Given the description of an element on the screen output the (x, y) to click on. 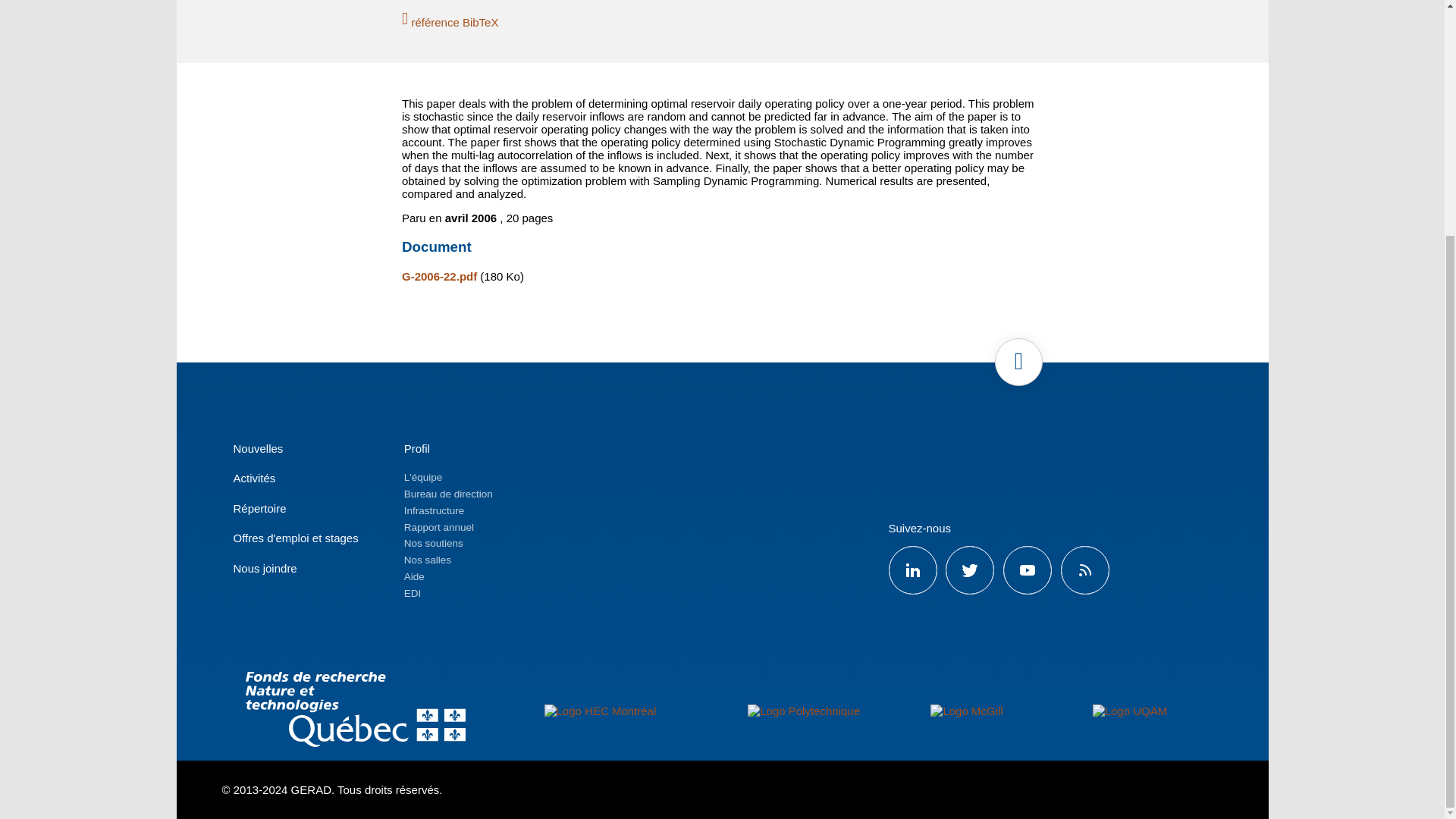
Nouvelles (257, 448)
G-2006-22.pdf (439, 276)
Offres d'emploi et stages (295, 537)
Nous joindre (264, 567)
